Given the description of an element on the screen output the (x, y) to click on. 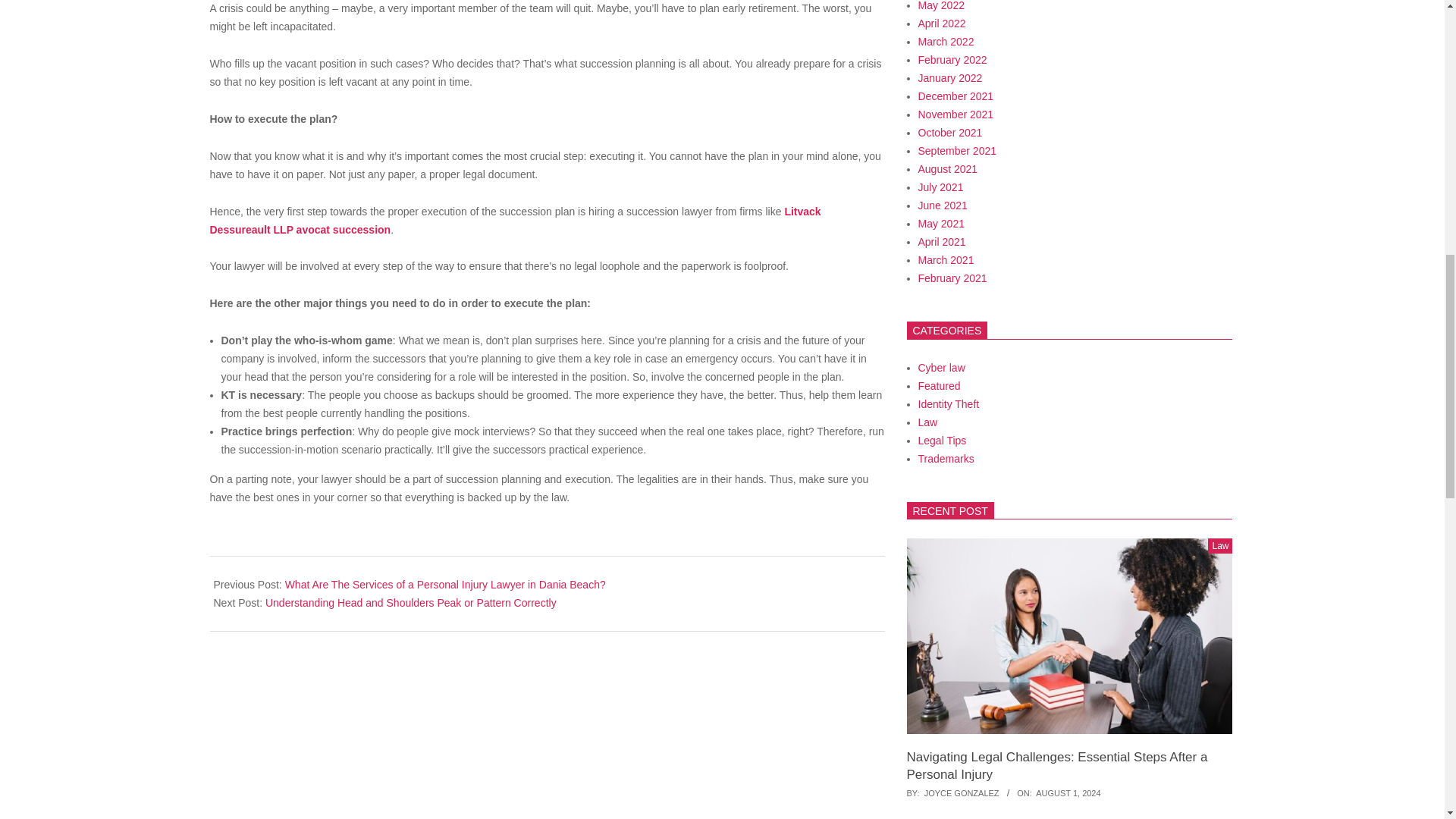
Posts by Joyce Gonzalez (961, 792)
Understanding Head and Shoulders Peak or Pattern Correctly (410, 603)
Litvack Dessureault LLP avocat succession (515, 219)
Thursday, August 1, 2024, 2:10 pm (1067, 792)
